Given the description of an element on the screen output the (x, y) to click on. 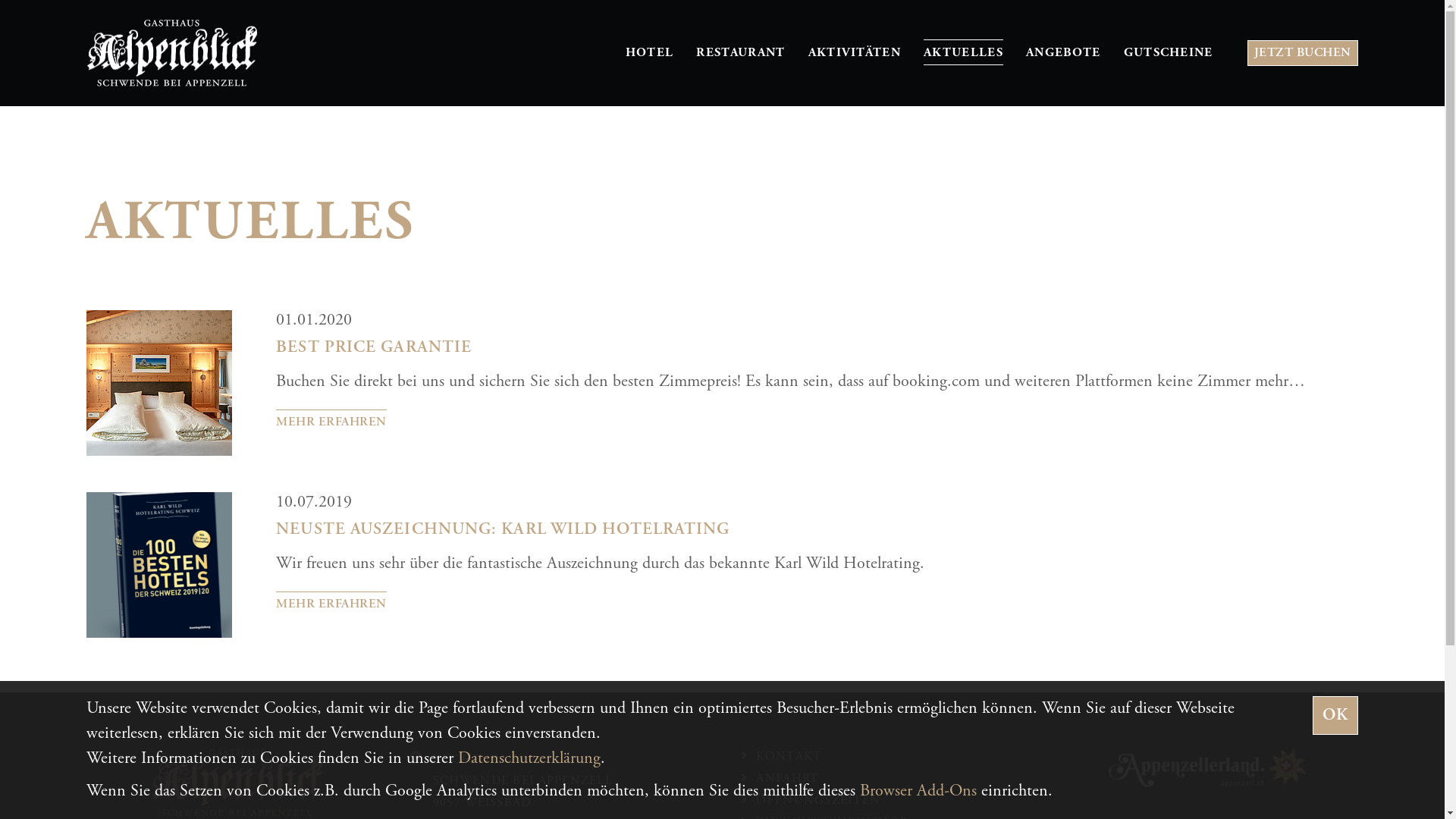
MEHR ERFAHREN Element type: text (330, 422)
Browser Add-Ons Element type: text (917, 790)
KONTAKT Element type: text (789, 756)
ANGEBOTE Element type: text (1063, 52)
Home Element type: hover (171, 52)
Appenzellerland Tourismus Element type: hover (1206, 768)
Home Element type: hover (237, 782)
MEHR ERFAHREN Element type: text (330, 604)
ANFAHRT Element type: text (787, 778)
Neuste Auszeichnung: Karl Wild Hotelrating Element type: hover (162, 564)
HOTEL Element type: text (649, 52)
Best Price Garantie Element type: hover (162, 382)
OK Element type: text (1334, 715)
RESTAURANT Element type: text (740, 52)
NEUSTE AUSZEICHNUNG: KARL WILD HOTELRATING Element type: text (502, 528)
AKTUELLES Element type: text (963, 52)
GUTSCHEINE Element type: text (1168, 52)
JETZT BUCHEN Element type: text (1302, 53)
BEST PRICE GARANTIE Element type: text (373, 346)
